Given the description of an element on the screen output the (x, y) to click on. 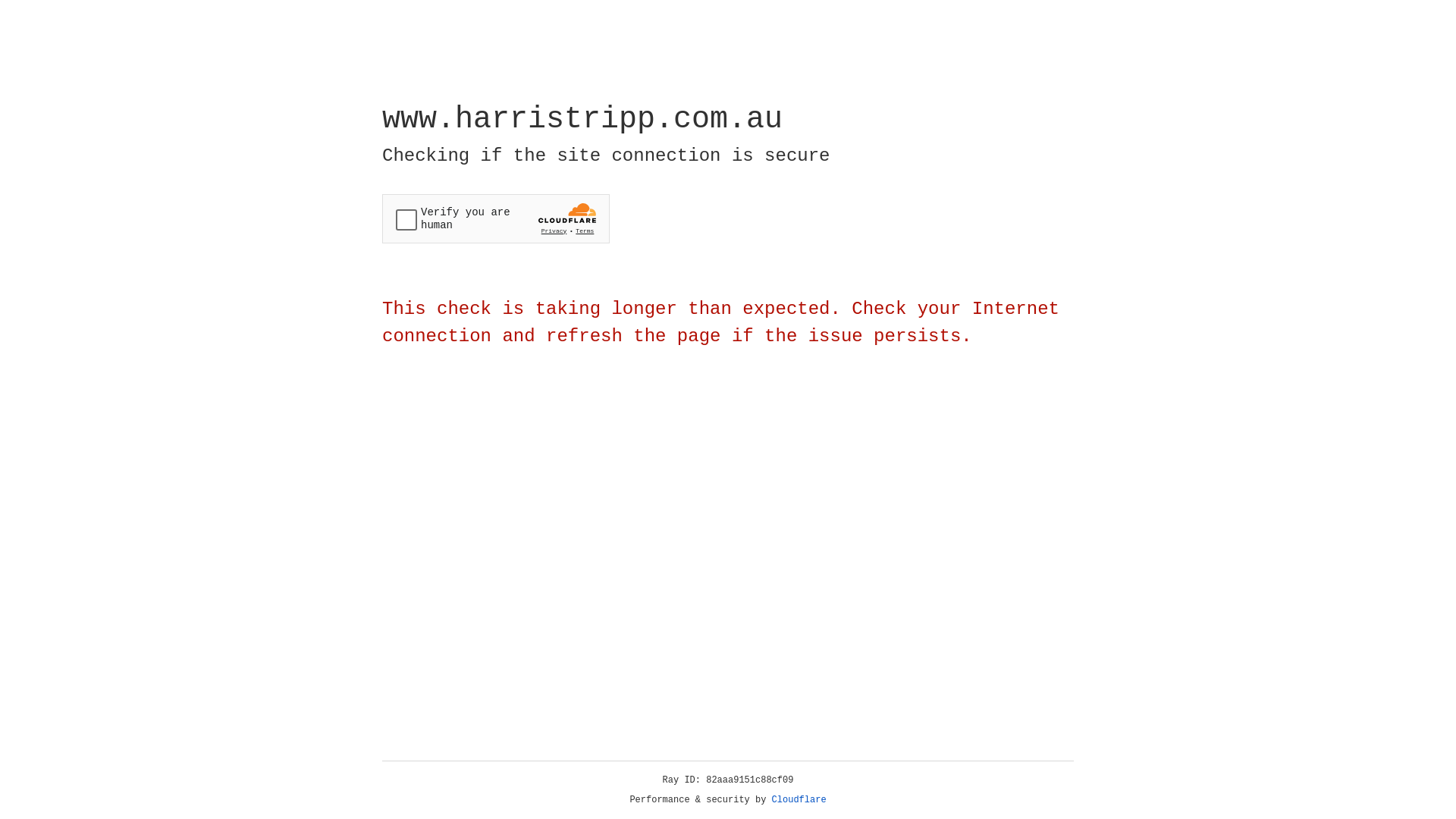
Cloudflare Element type: text (798, 799)
Widget containing a Cloudflare security challenge Element type: hover (495, 218)
